Given the description of an element on the screen output the (x, y) to click on. 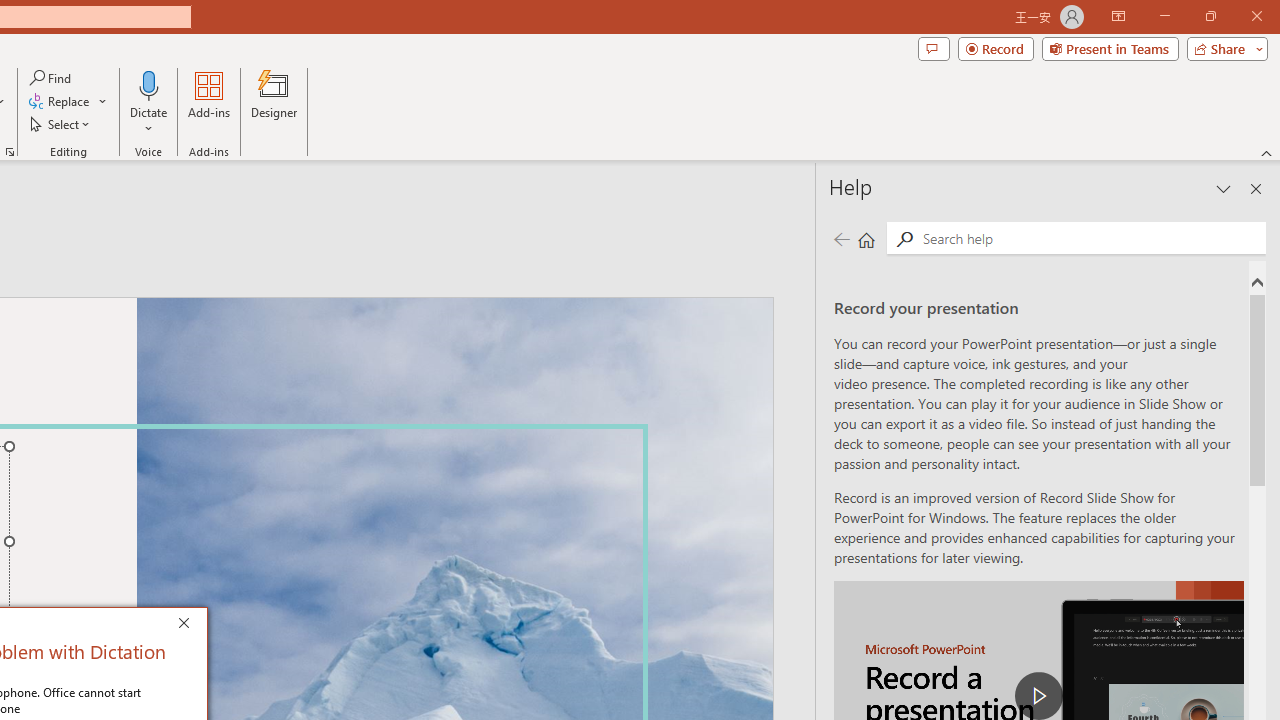
Search (904, 238)
Restore Down (1210, 16)
Dictate (149, 102)
Close pane (1256, 188)
Replace... (60, 101)
Present in Teams (1109, 48)
Search (1089, 237)
Collapse the Ribbon (1267, 152)
